Given the description of an element on the screen output the (x, y) to click on. 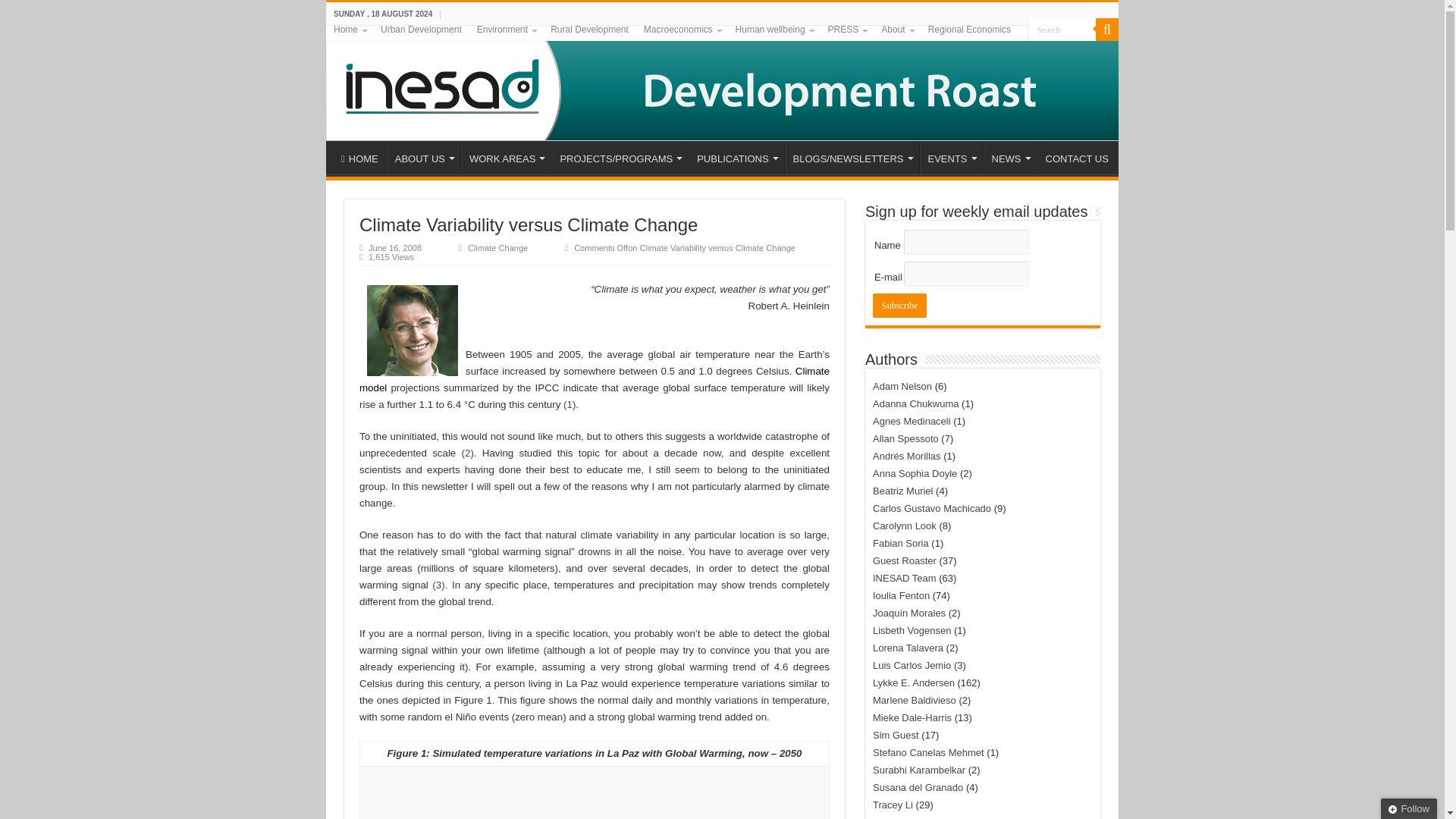
Search (1061, 29)
Search (1061, 29)
Posts by Agnes Medinaceli (911, 420)
Posts by Adanna Chukwuma (915, 403)
Subscribe (899, 305)
Climate model (594, 379)
Posts by Adam Nelson (901, 386)
Development Roast (722, 82)
INESAD in the PRESS (848, 29)
Search (1061, 29)
